Given the description of an element on the screen output the (x, y) to click on. 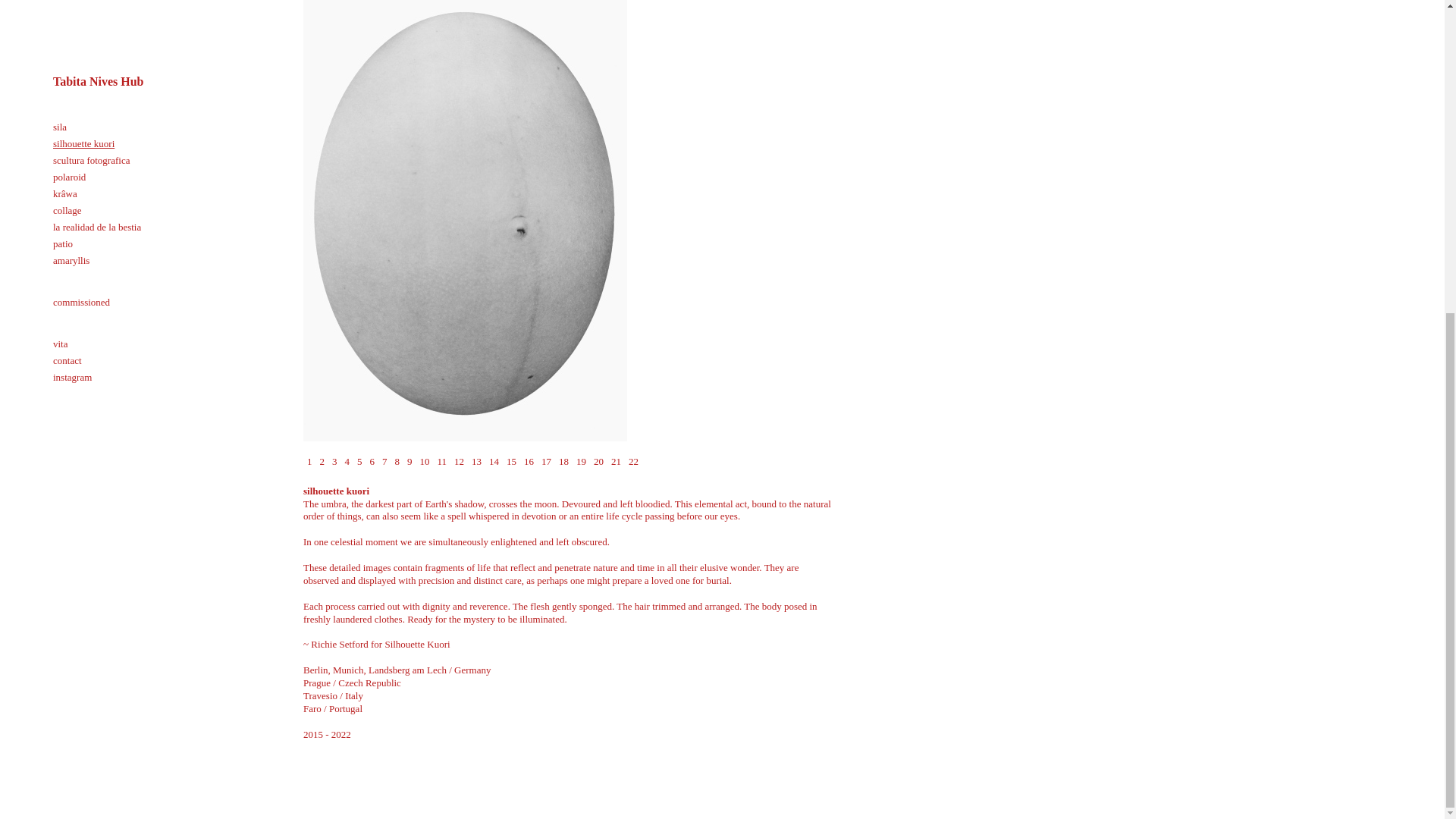
2 (322, 461)
3 (334, 461)
5 (359, 461)
1 (308, 461)
12 (458, 461)
15 (510, 461)
4 (346, 461)
11 (442, 461)
16 (528, 461)
10 (423, 461)
